Given the description of an element on the screen output the (x, y) to click on. 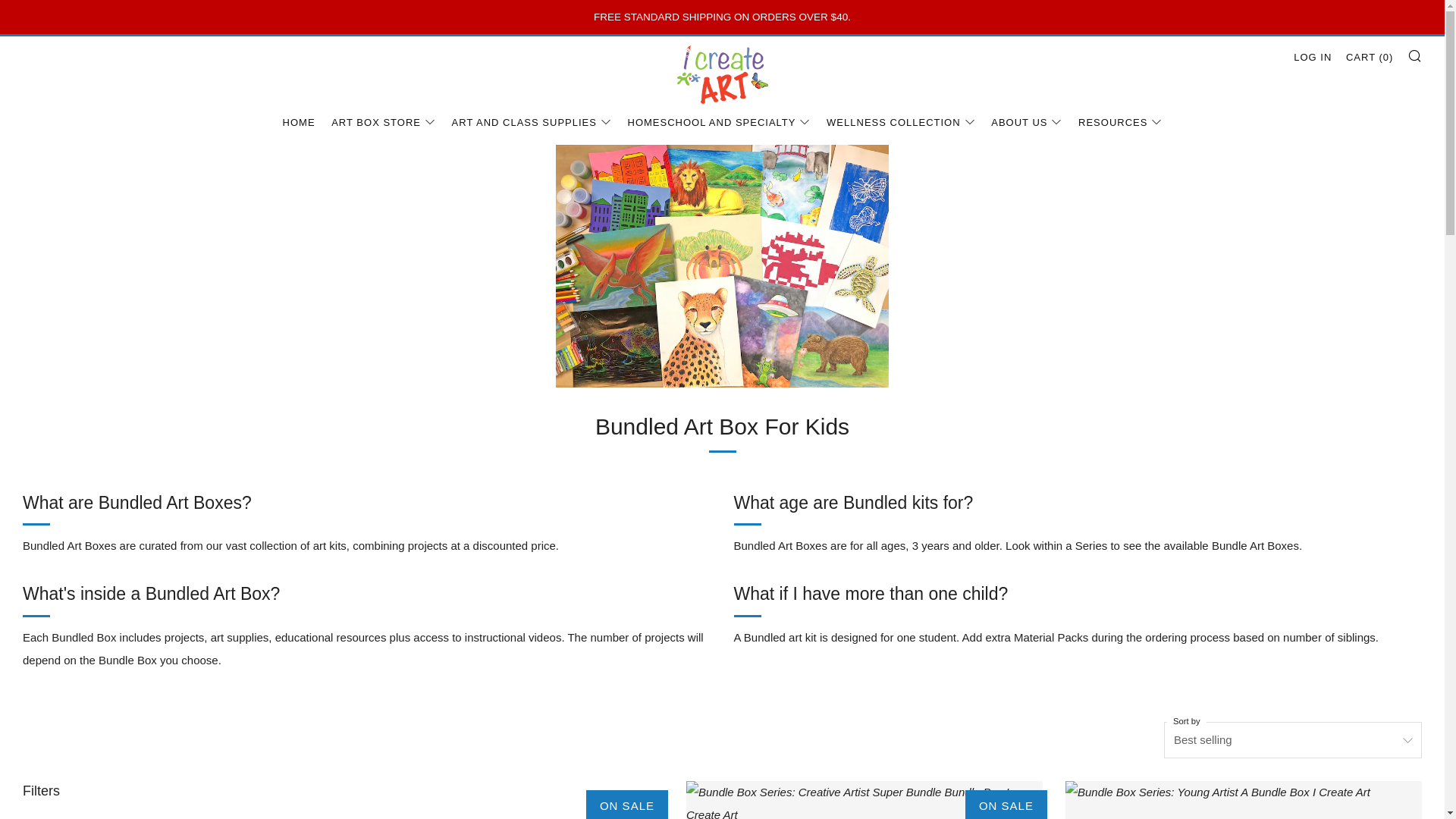
Bundle: Creative Artist Super (863, 800)
Bundle: Young Artist A (1243, 800)
Anime Super Bundle (485, 800)
Art Boxes For Kids (722, 74)
